Given the description of an element on the screen output the (x, y) to click on. 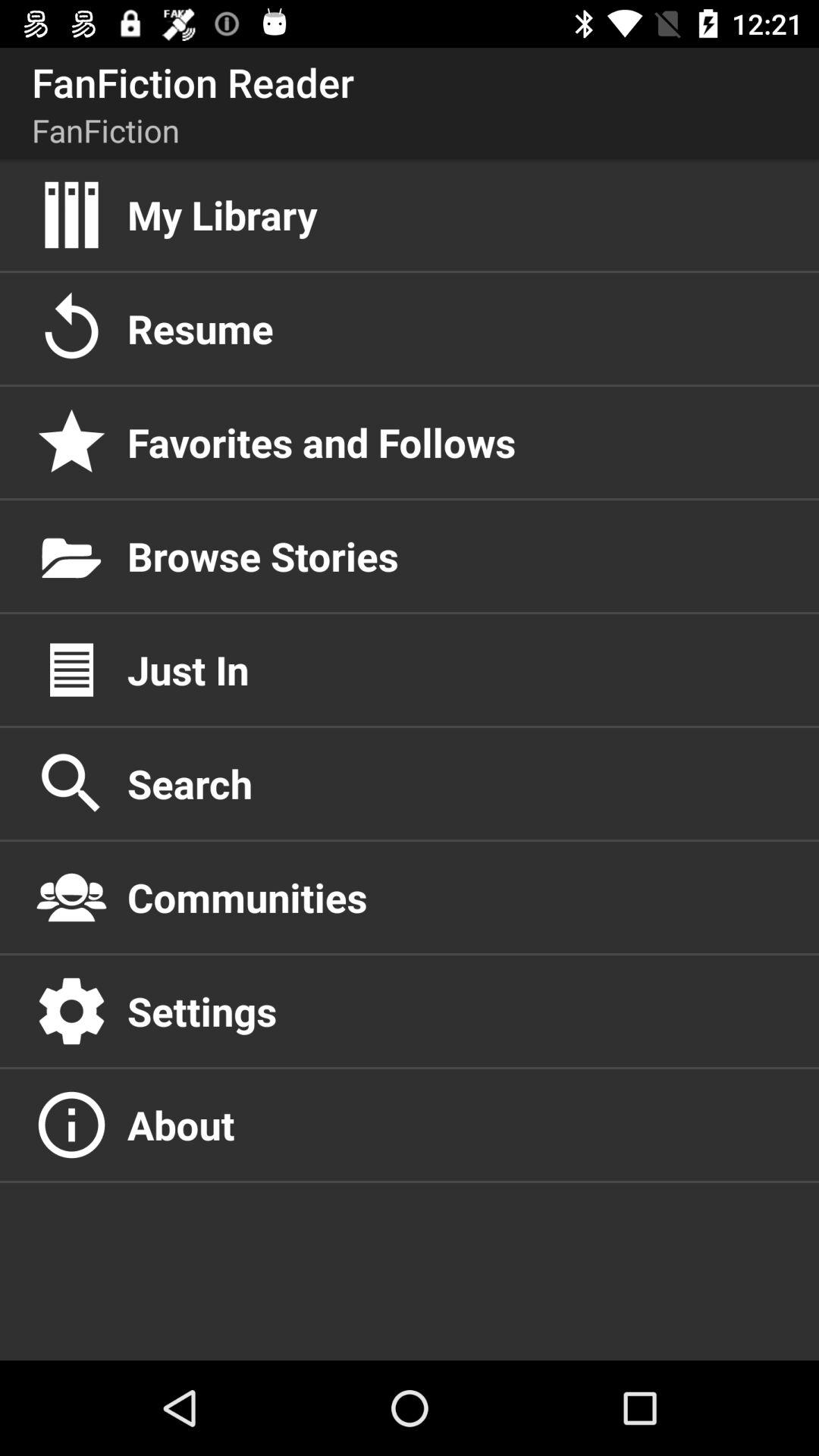
scroll to communities (457, 897)
